Given the description of an element on the screen output the (x, y) to click on. 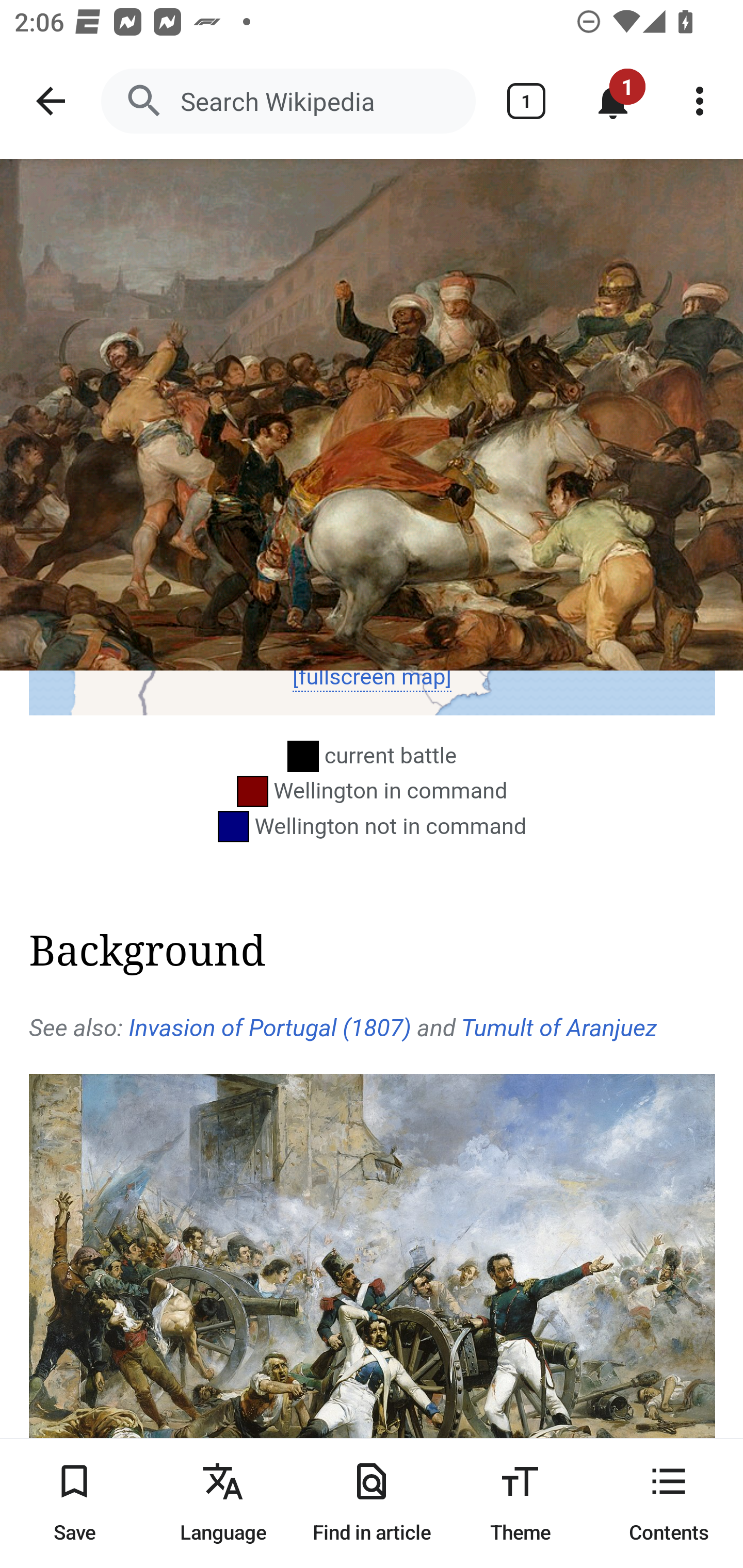
Show tabs 1 (525, 100)
Notifications 1 (612, 100)
Navigate up (50, 101)
More options (699, 101)
Search Wikipedia (288, 100)
Image: Dos de Mayo Uprising (371, 414)
[fullscreen map] (371, 677)
Invasion of Portugal (1807) (269, 1027)
Tumult of Aranjuez (559, 1027)
1280px-Dos_de_mayo%2C_por_Joaqu%C3%ADn_Sorolla (372, 1303)
Save (74, 1502)
Language (222, 1502)
Find in article (371, 1502)
Theme (519, 1502)
Contents (668, 1502)
